Given the description of an element on the screen output the (x, y) to click on. 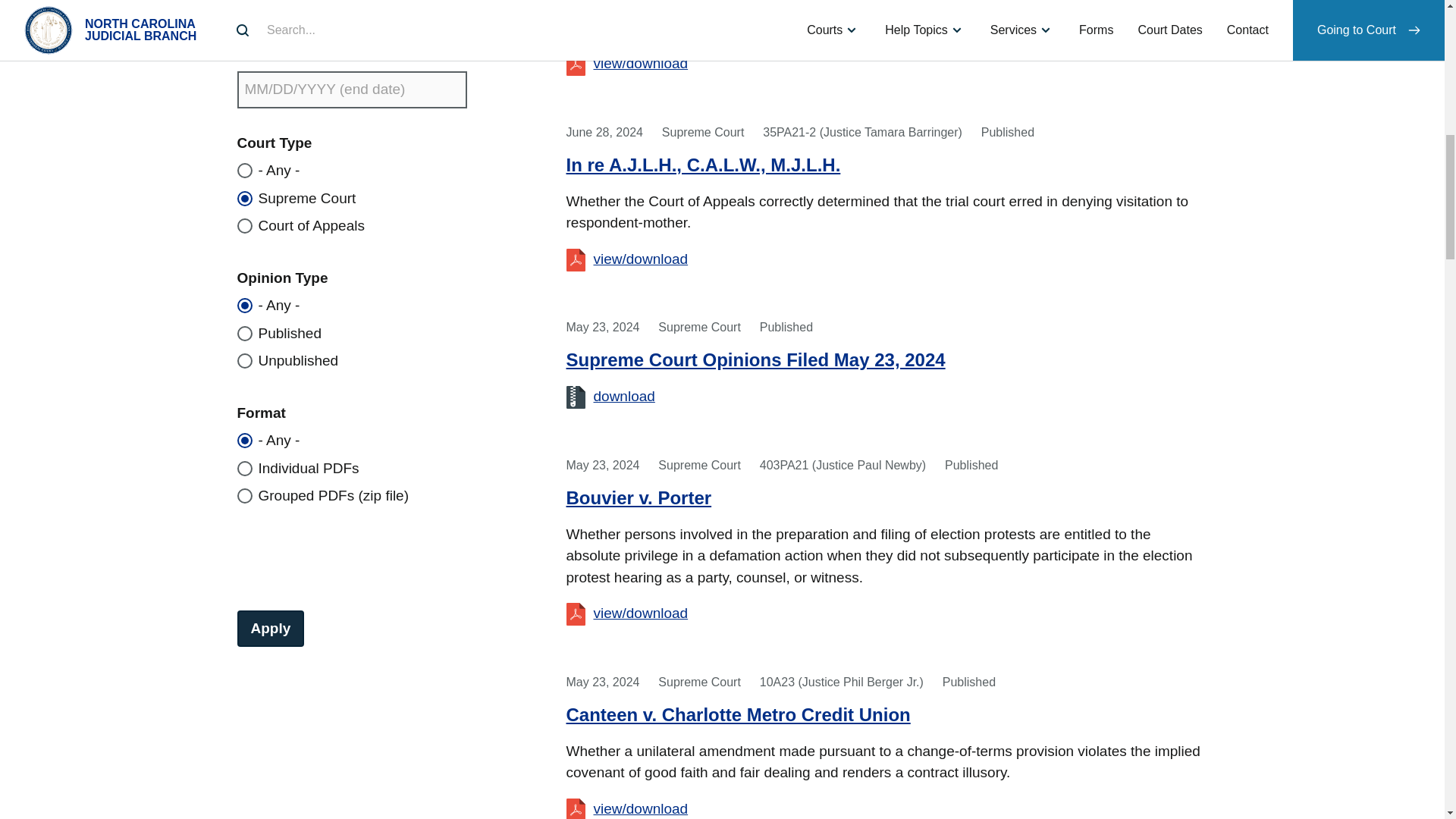
35PA21-2 (649, 258)
403PA21 (649, 612)
10A23 (649, 808)
Supreme Court Opinions Filed May 23, 2024 (622, 396)
Apply (269, 628)
55A23 (649, 63)
